Given the description of an element on the screen output the (x, y) to click on. 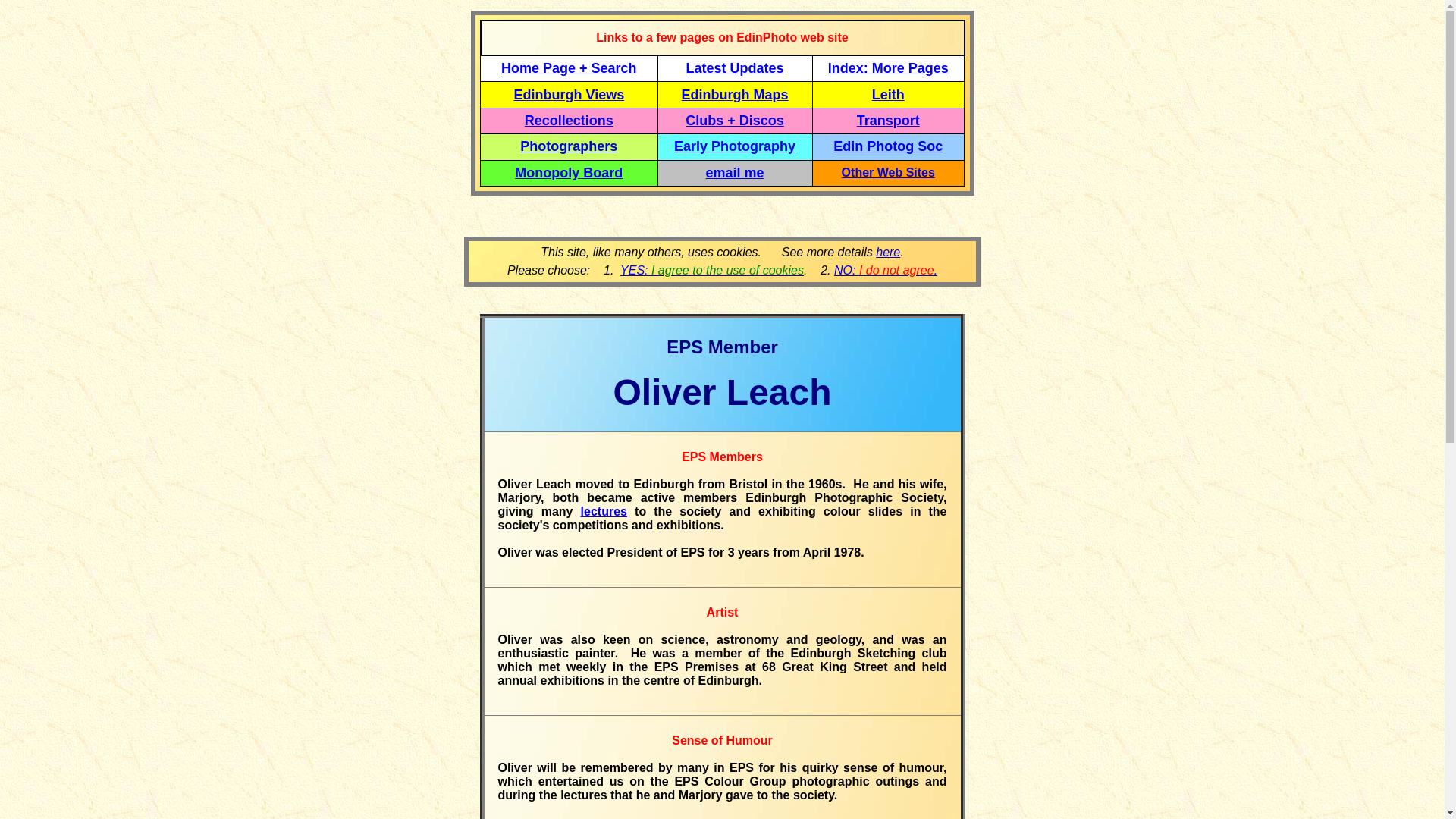
Edin Photog Soc (887, 145)
email me (735, 172)
Edinburgh Views (568, 94)
Latest Updates (734, 68)
Other Web Sites (887, 172)
Edinburgh Maps (735, 94)
lectures (603, 511)
here (887, 251)
Recollections (568, 120)
Early Photography (734, 145)
NO: I do not agree. (885, 269)
Leith (888, 94)
Transport (888, 120)
Monopoly Board (569, 172)
YES: I agree to the use of cookies (711, 269)
